Given the description of an element on the screen output the (x, y) to click on. 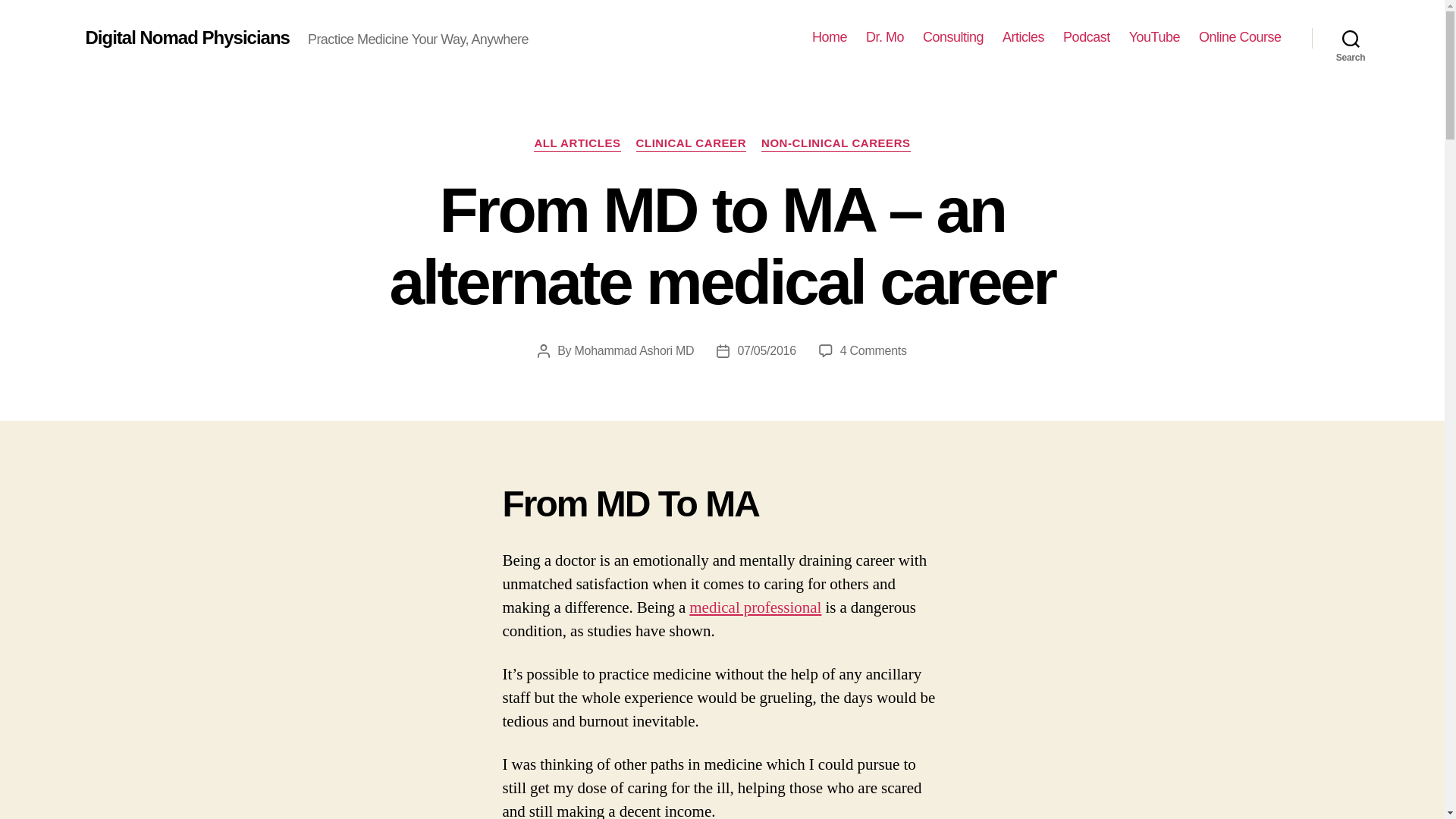
CLINICAL CAREER (690, 143)
Digital Nomad Physicians (186, 37)
Home (829, 37)
Consulting (953, 37)
medical professional (754, 607)
Dr. Mo (885, 37)
NON-CLINICAL CAREERS (836, 143)
Online Course (1239, 37)
ALL ARTICLES (577, 143)
Mohammad Ashori MD (634, 350)
Podcast (1085, 37)
Articles (1023, 37)
YouTube (1154, 37)
A little about me and my timeline. (885, 37)
Search (1350, 37)
